Given the description of an element on the screen output the (x, y) to click on. 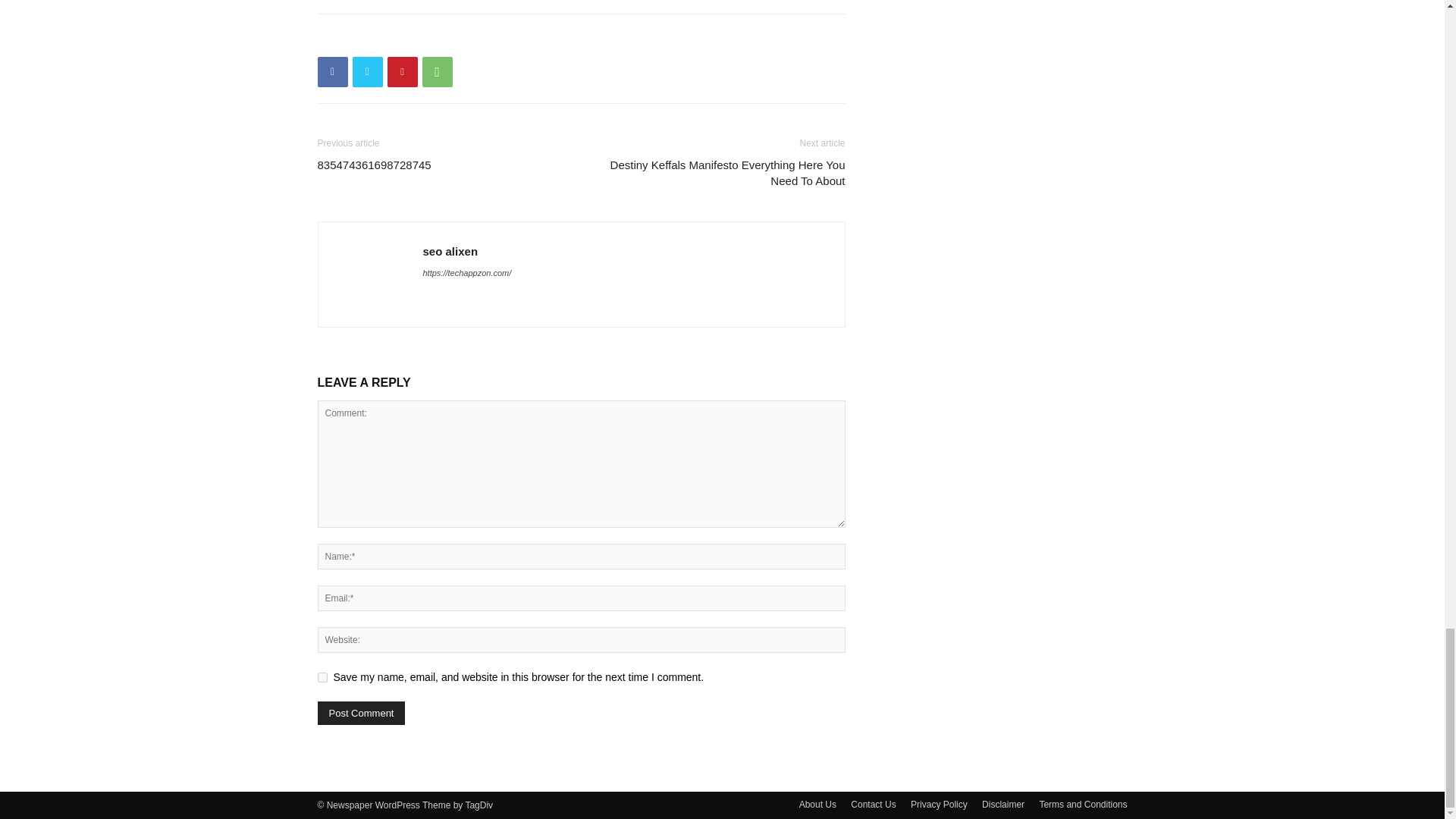
WhatsApp (436, 71)
Pinterest (401, 71)
bottomFacebookLike (430, 37)
yes (321, 677)
Post Comment (360, 712)
Twitter (366, 71)
Facebook (332, 71)
